Given the description of an element on the screen output the (x, y) to click on. 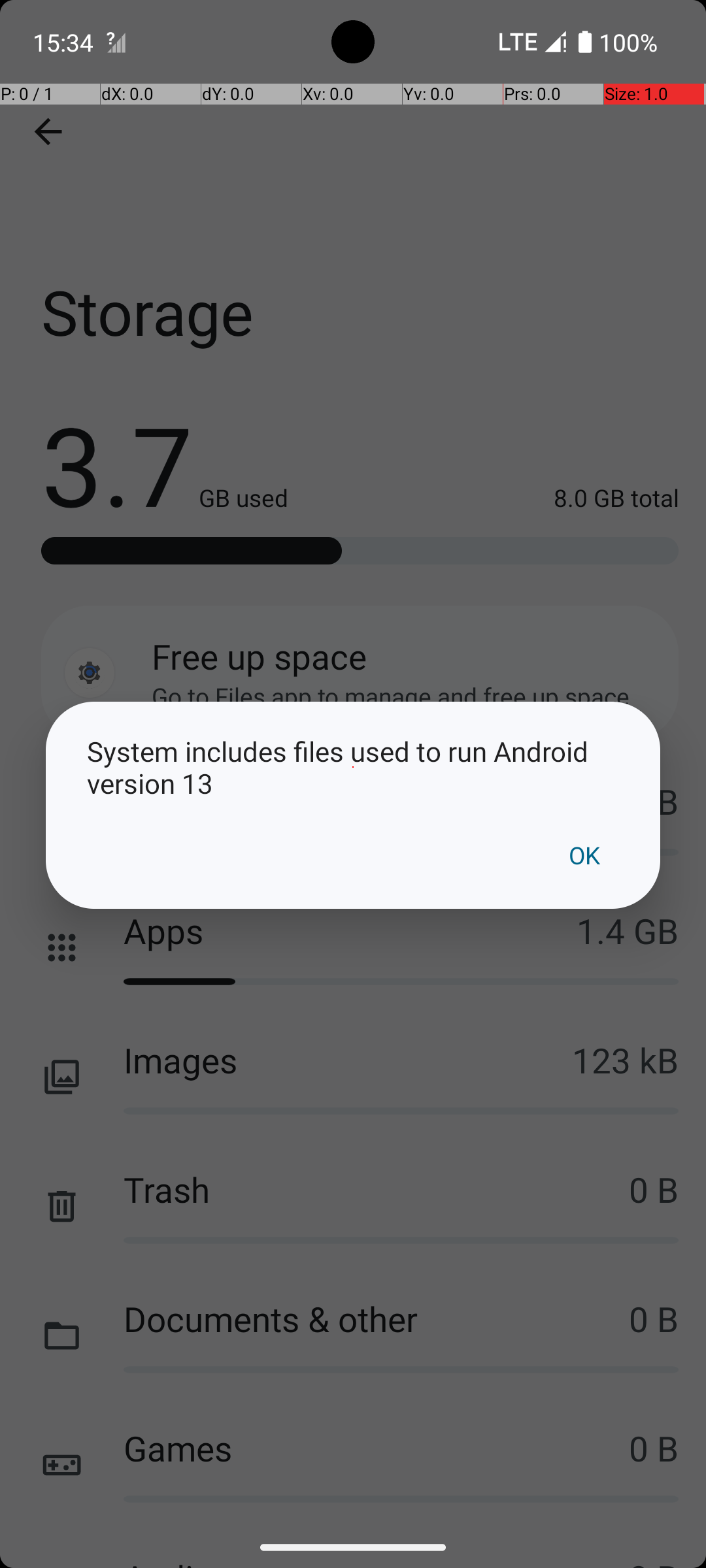
System includes files used to run Android version 13 Element type: android.widget.TextView (352, 766)
